Given the description of an element on the screen output the (x, y) to click on. 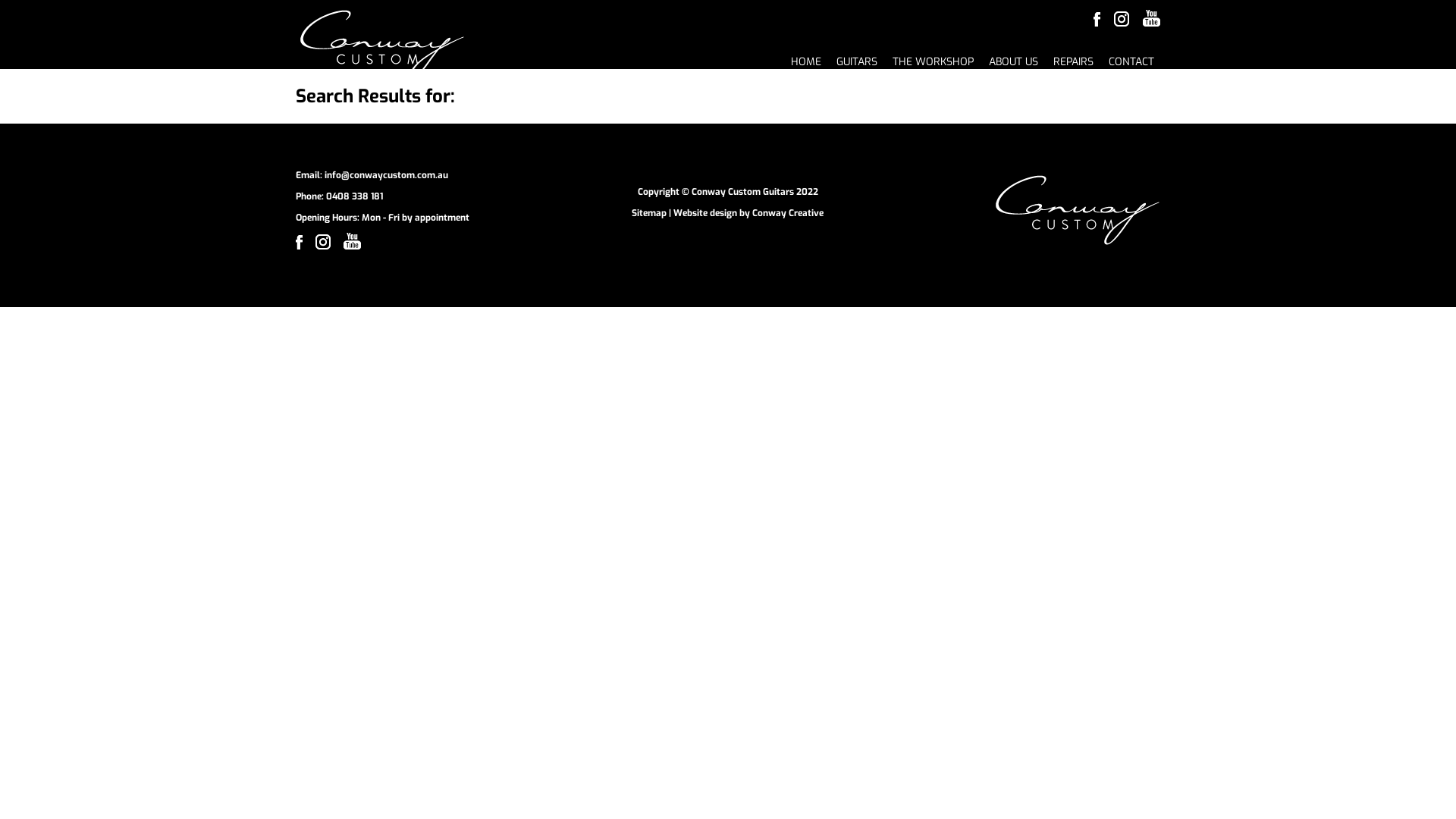
Phone: 0408 338 181 Element type: text (338, 196)
Email: info@conwaycustom.com.au Element type: text (371, 175)
REPAIRS Element type: text (1073, 61)
GUITARS Element type: text (856, 61)
Sitemap Element type: text (648, 213)
Website design by Conway Creative Element type: text (748, 213)
HOME Element type: text (805, 61)
CONTACT Element type: text (1131, 61)
THE WORKSHOP Element type: text (932, 61)
ABOUT US Element type: text (1013, 61)
